Given the description of an element on the screen output the (x, y) to click on. 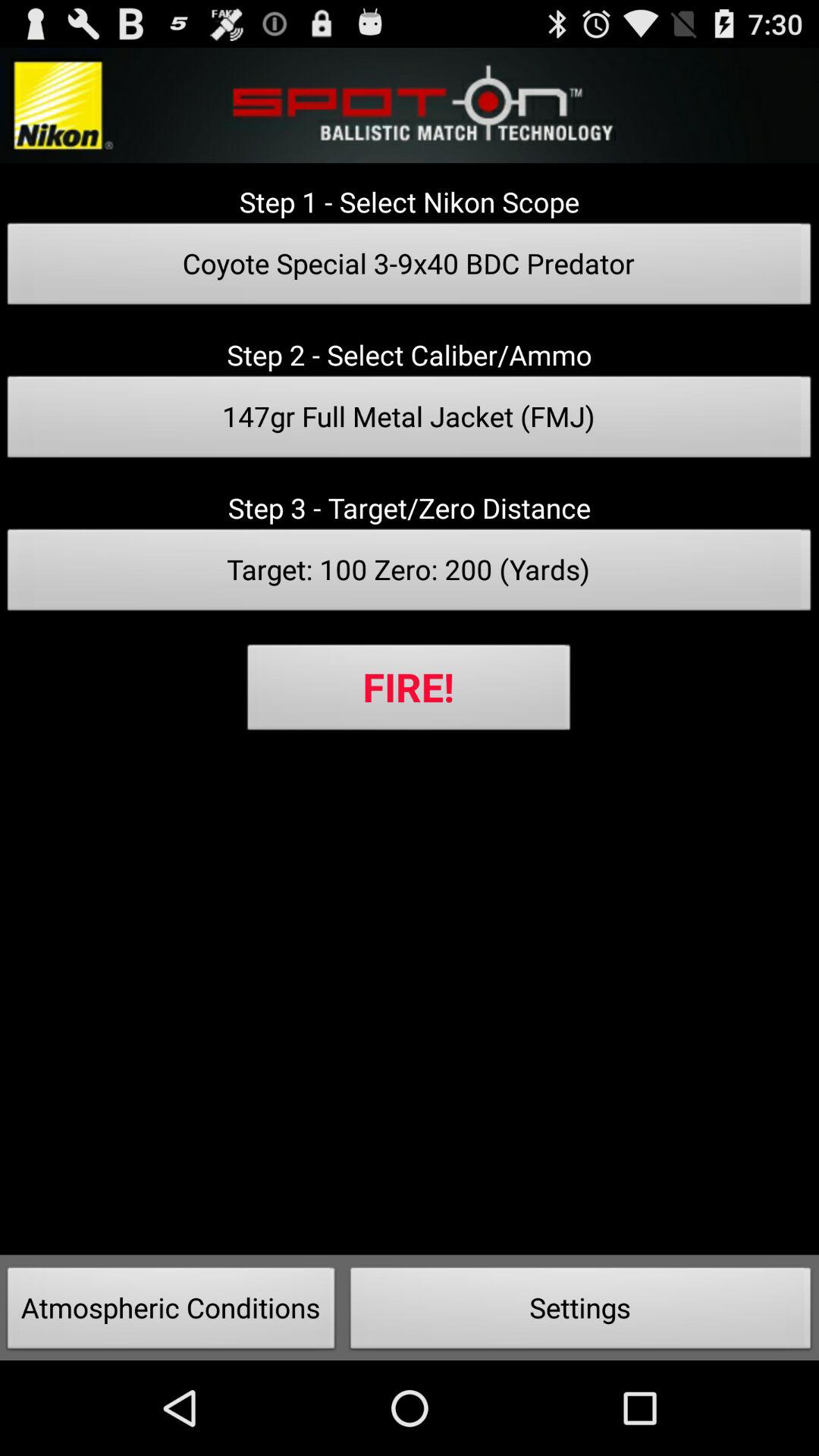
turn on button below fire! item (171, 1312)
